Given the description of an element on the screen output the (x, y) to click on. 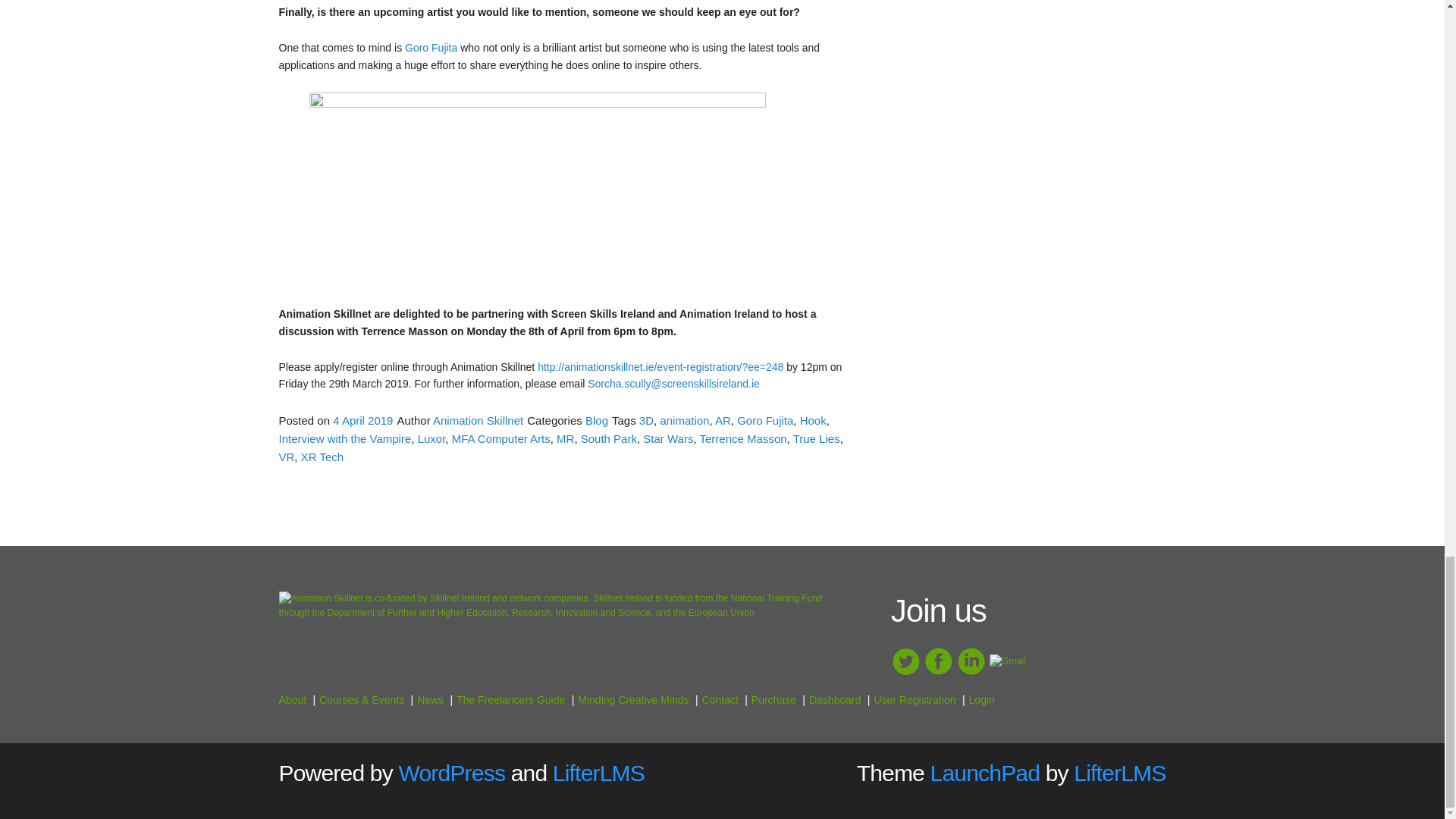
Goro Fujita (764, 420)
True Lies (816, 438)
AR (722, 420)
XR Tech (322, 456)
Goro Fujita (430, 47)
animation (684, 420)
MR (564, 438)
Terrence Masson (743, 438)
Hook (813, 420)
Star Wars (668, 438)
VR (287, 456)
Luxor (431, 438)
Animation Skillnet (477, 420)
4 April 2019 (363, 420)
MFA Computer Arts (500, 438)
